Given the description of an element on the screen output the (x, y) to click on. 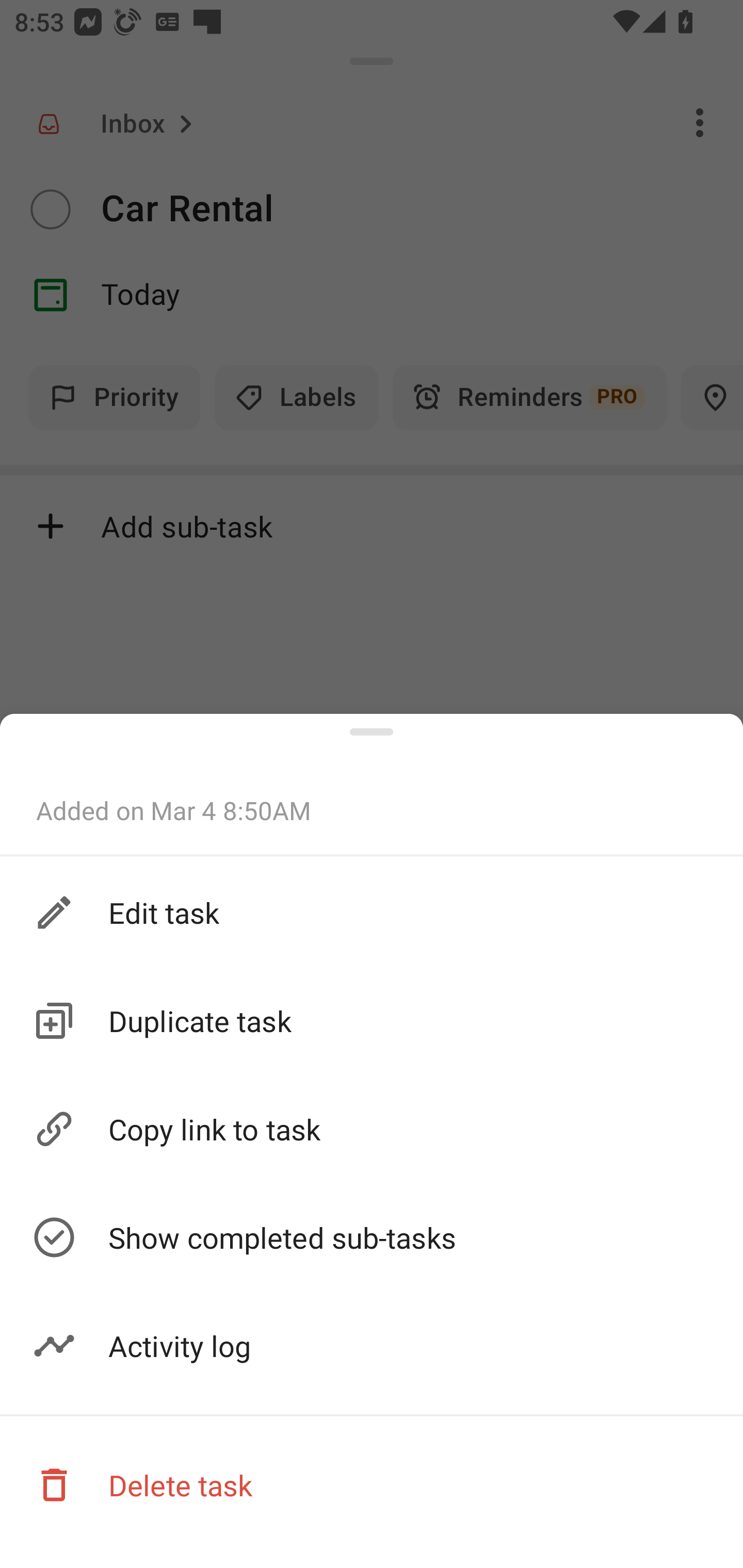
Edit task (371, 911)
Duplicate task (371, 1020)
Copy link to task (371, 1129)
Show completed sub-tasks (371, 1237)
Activity log (371, 1346)
Delete task (371, 1484)
